Given the description of an element on the screen output the (x, y) to click on. 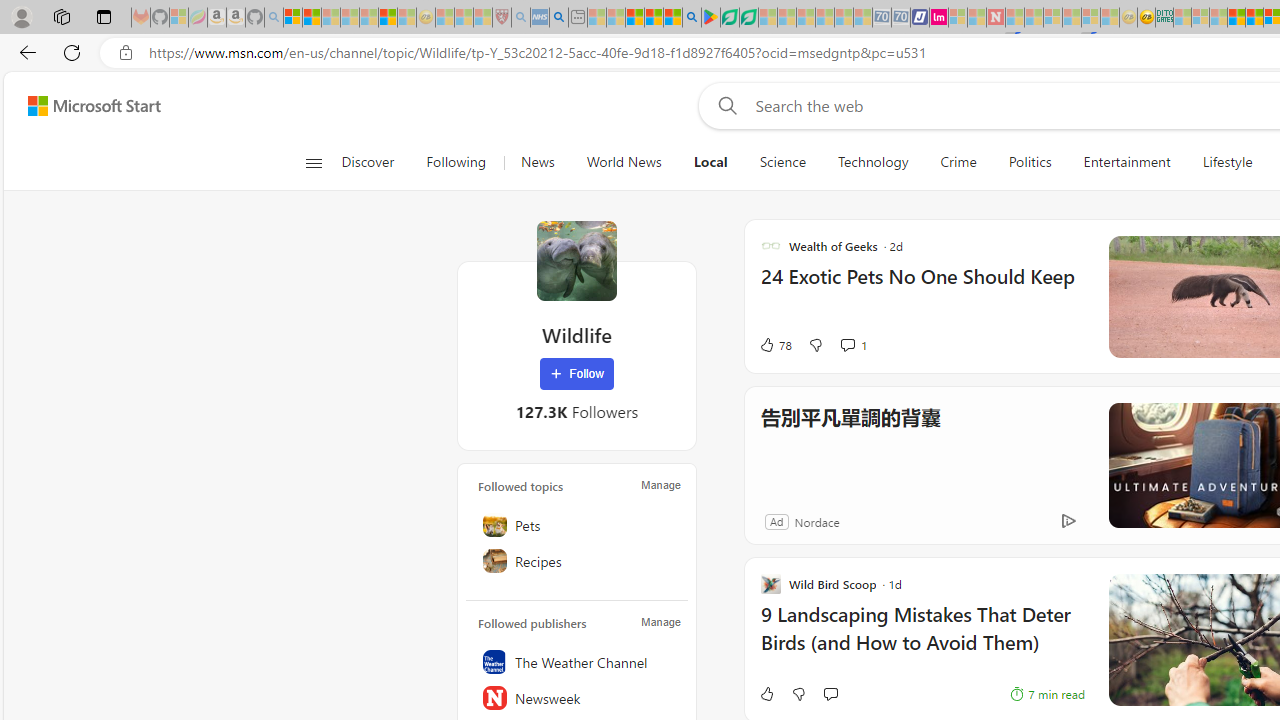
Kinda Frugal - MSN (1254, 17)
